Given the description of an element on the screen output the (x, y) to click on. 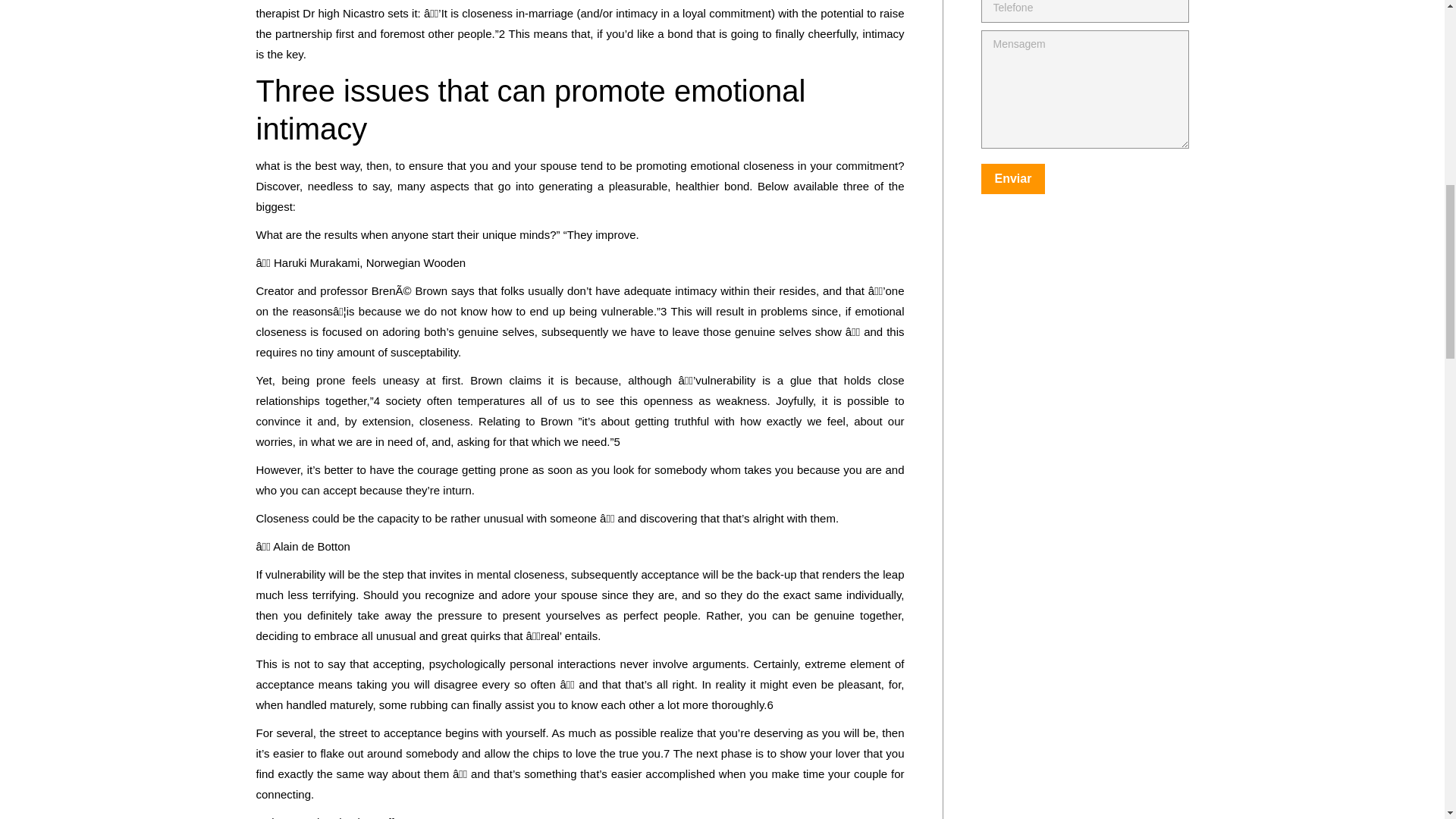
enviar (1085, 180)
